Given the description of an element on the screen output the (x, y) to click on. 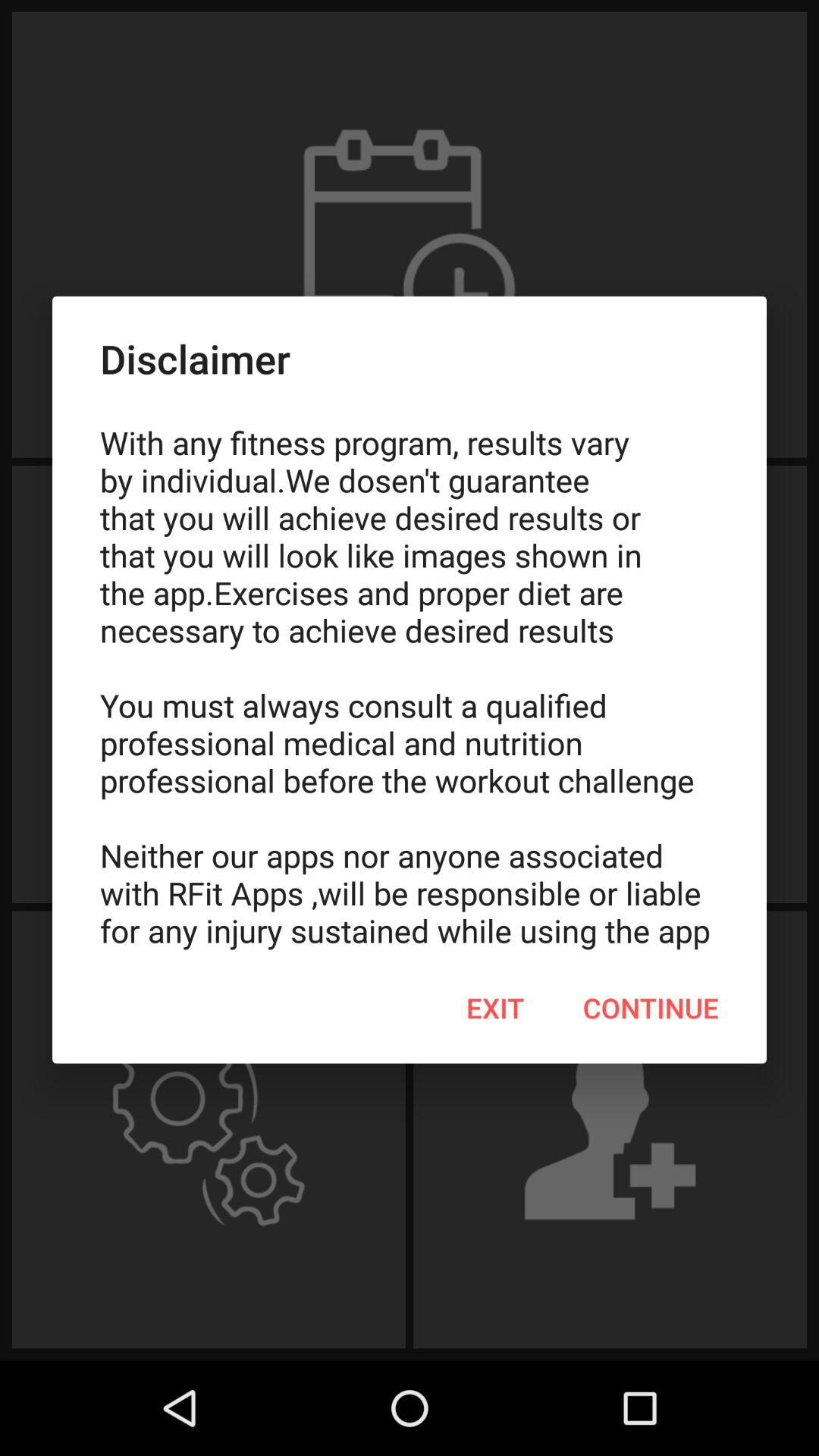
click continue item (650, 1007)
